Given the description of an element on the screen output the (x, y) to click on. 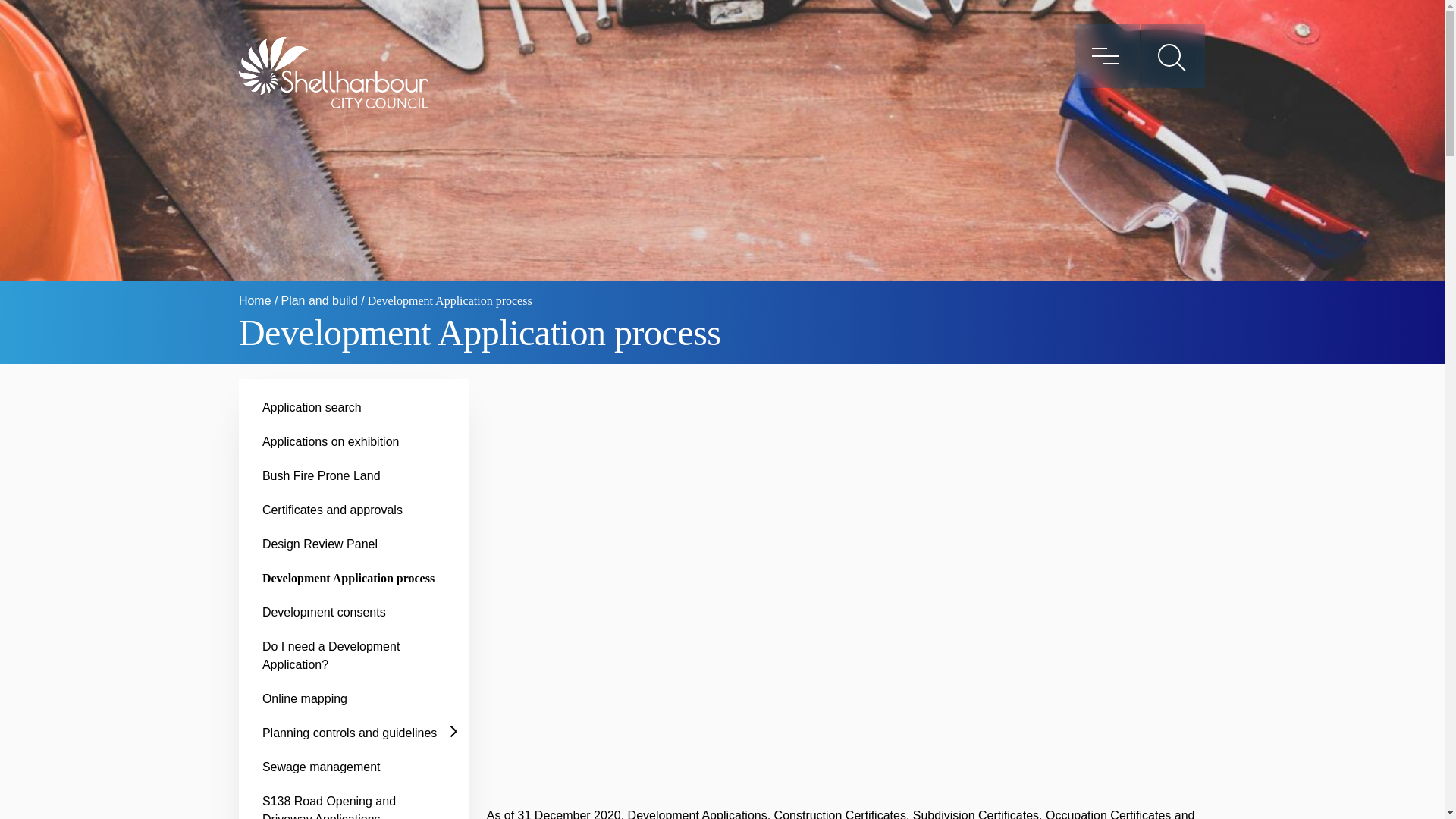
Jump to navigation (11, 11)
Shellharbour Council home page (333, 72)
